Given the description of an element on the screen output the (x, y) to click on. 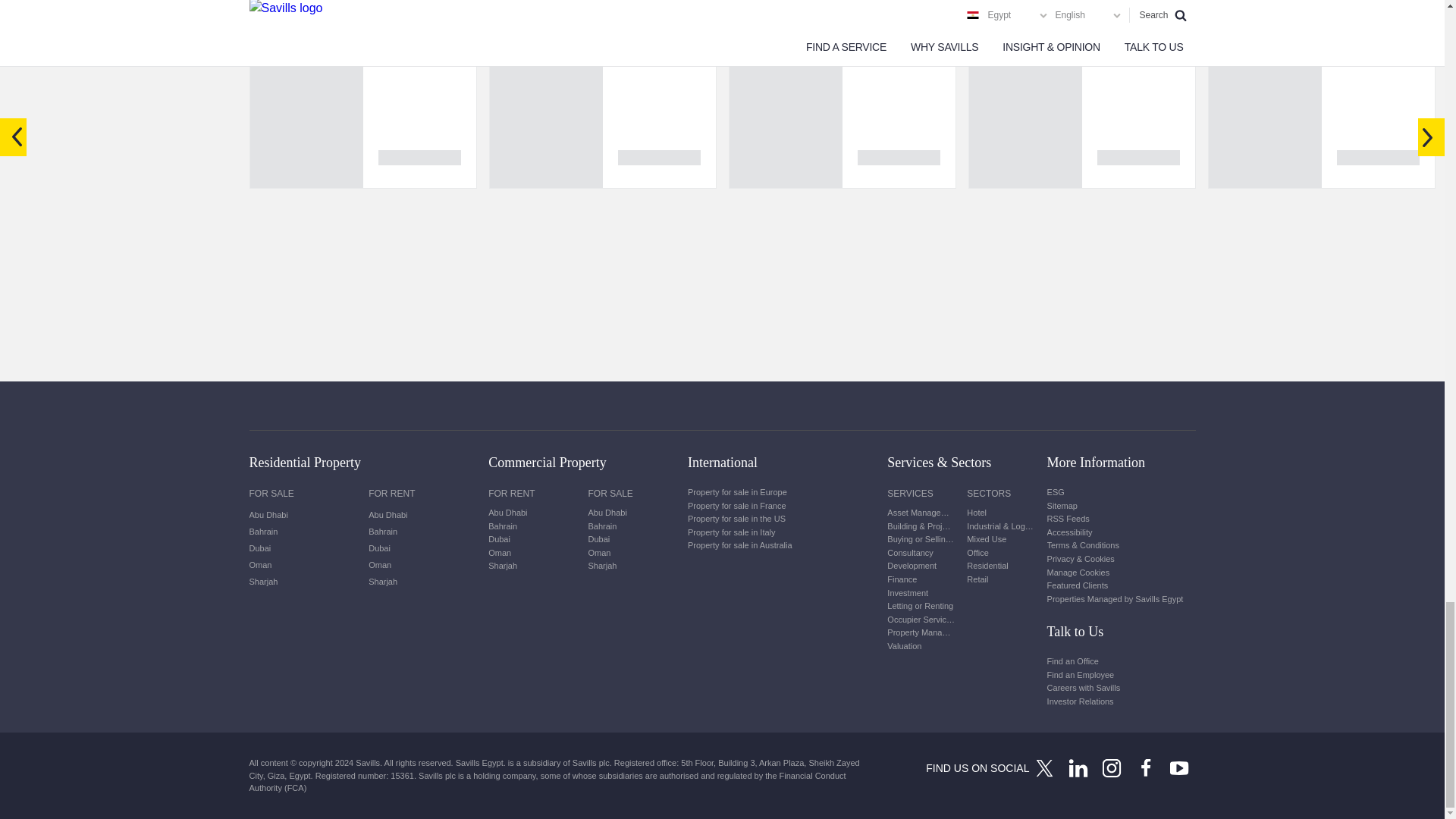
property for sale in Sharjah (302, 581)
property for sale in Oman (302, 564)
Property for sale in Abu Dhabi (302, 514)
Property for sale in Bahrain (302, 531)
property for sale in Dubai (302, 547)
